Given the description of an element on the screen output the (x, y) to click on. 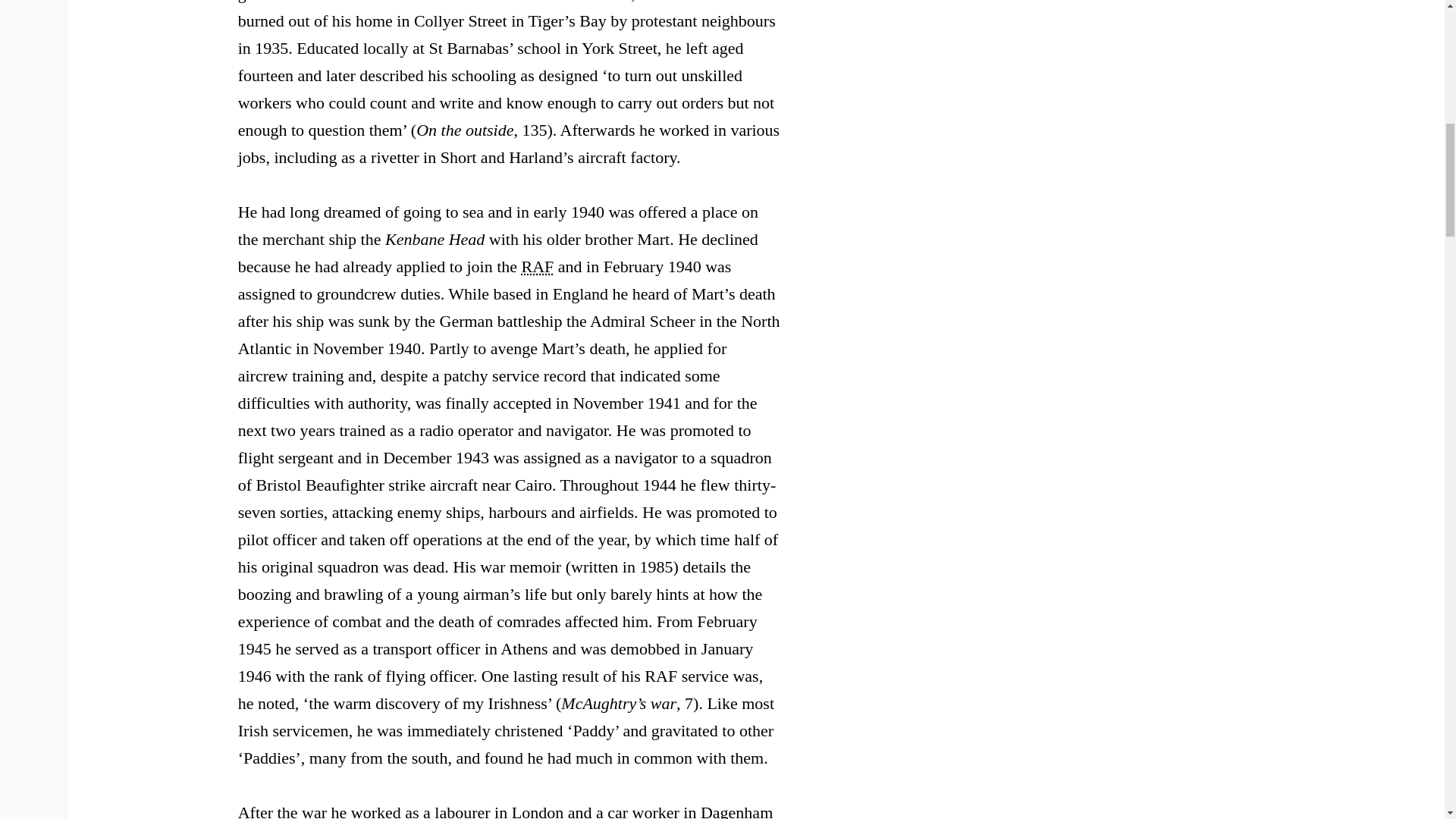
Royal Air Force (537, 266)
